Given the description of an element on the screen output the (x, y) to click on. 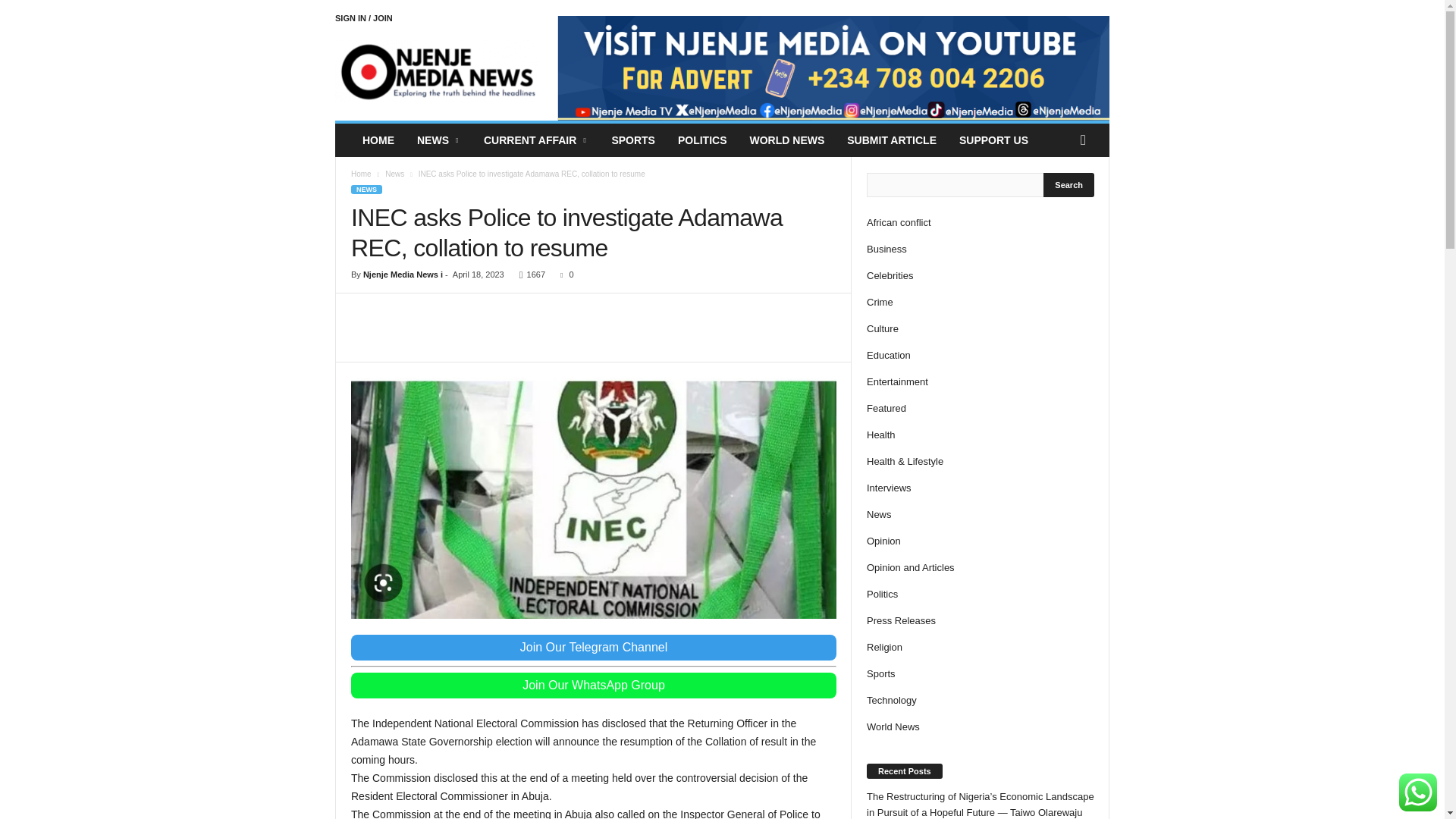
SUBMIT ARTICLE (891, 140)
HOME (378, 140)
View all posts in News (394, 173)
Search (1068, 184)
SPORTS (632, 140)
Njenje Media News (437, 70)
POLITICS (702, 140)
INEC hammer falls on REC over Adamawa guber results mess (592, 498)
SUPPORT US (993, 140)
WORLD NEWS (786, 140)
NEWS (438, 140)
CURRENT AFFAIR (535, 140)
